Given the description of an element on the screen output the (x, y) to click on. 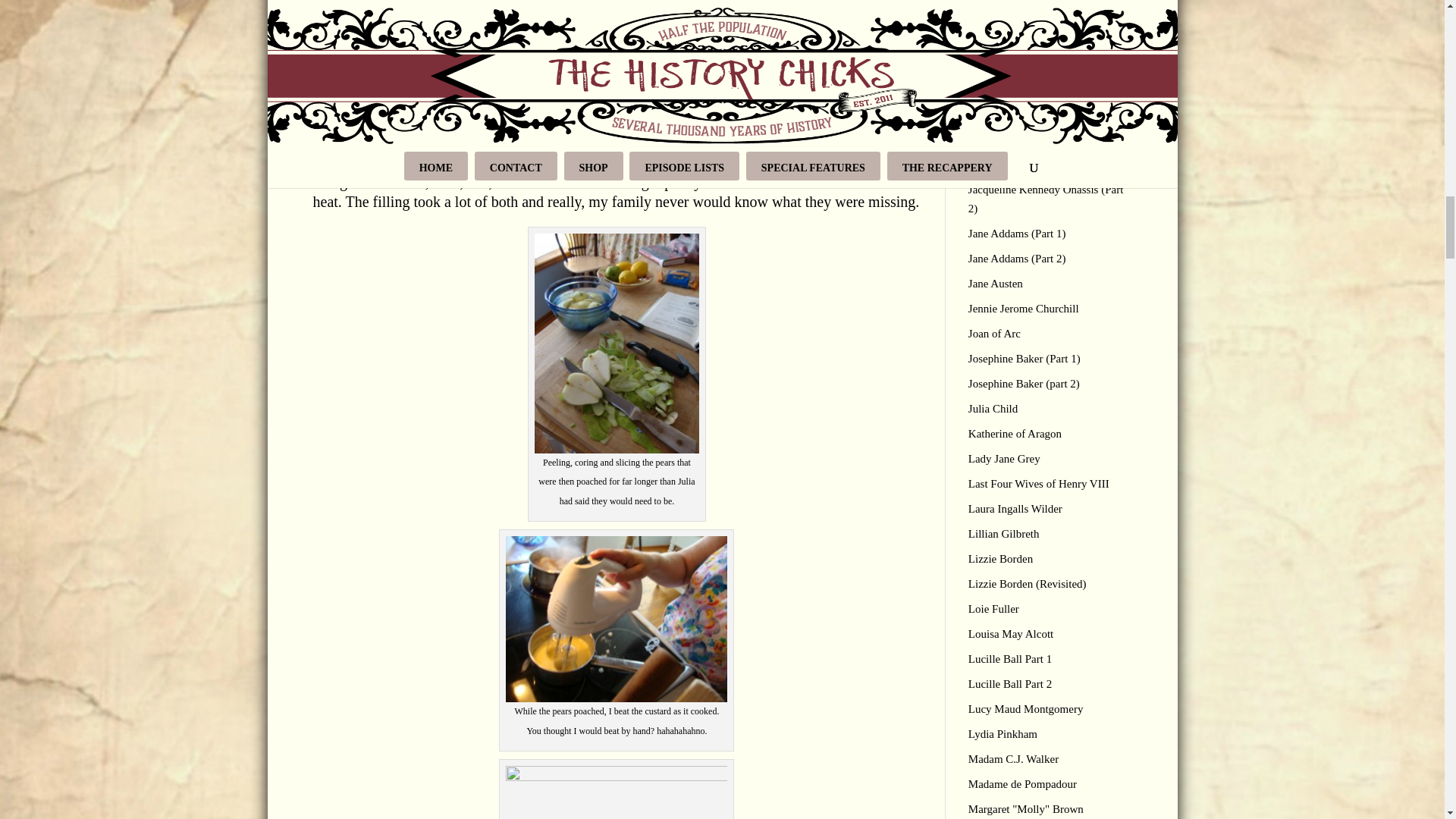
194 (615, 618)
191 (616, 342)
181 (615, 31)
197 (615, 792)
